Given the description of an element on the screen output the (x, y) to click on. 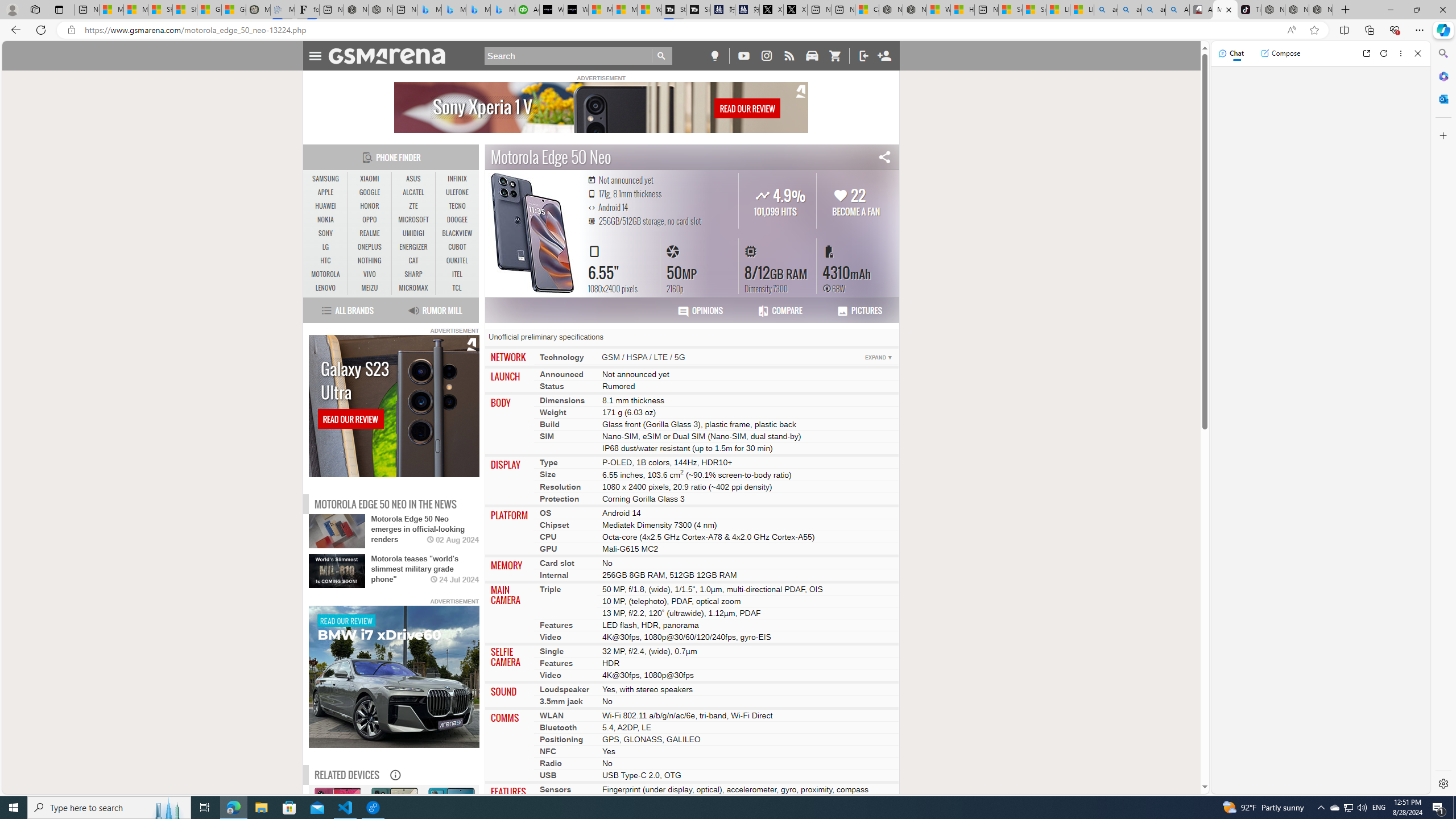
LG (325, 246)
Motorola Edge 50 Neo MORE PICTURES (531, 233)
Huge shark washes ashore at New York City beach | Watch (962, 9)
DOOGEE (457, 219)
CAT (413, 260)
NOTHING (369, 260)
Microsoft Bing Travel - Shangri-La Hotel Bangkok (502, 9)
SAMSUNG (325, 178)
